Given the description of an element on the screen output the (x, y) to click on. 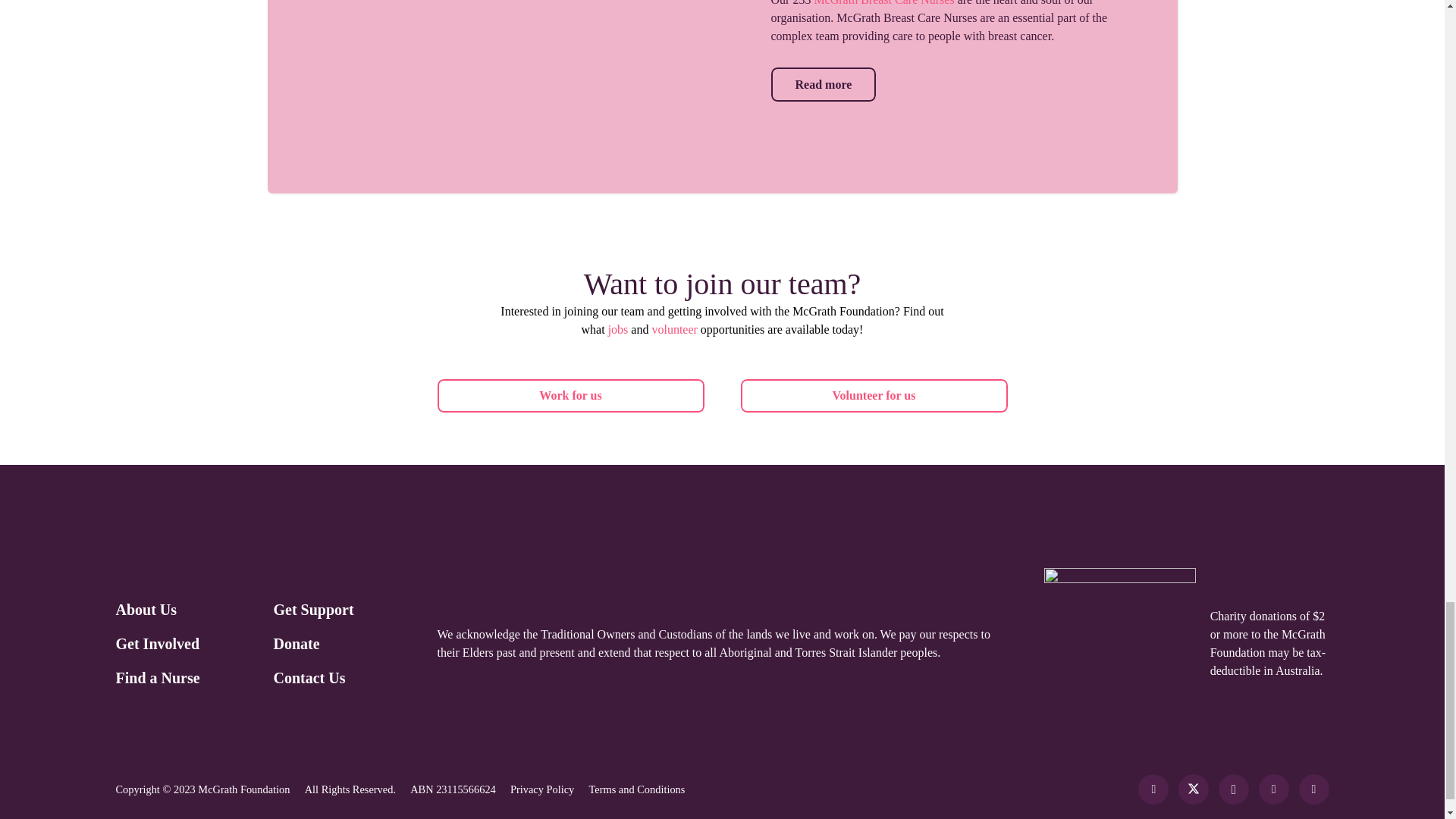
Twitter (1192, 788)
YouTube (1312, 788)
Work For Us (569, 396)
Instagram (1233, 788)
What We Do (823, 84)
Facebook (1153, 788)
Work For Us (873, 396)
LinkedIn (1273, 788)
